Given the description of an element on the screen output the (x, y) to click on. 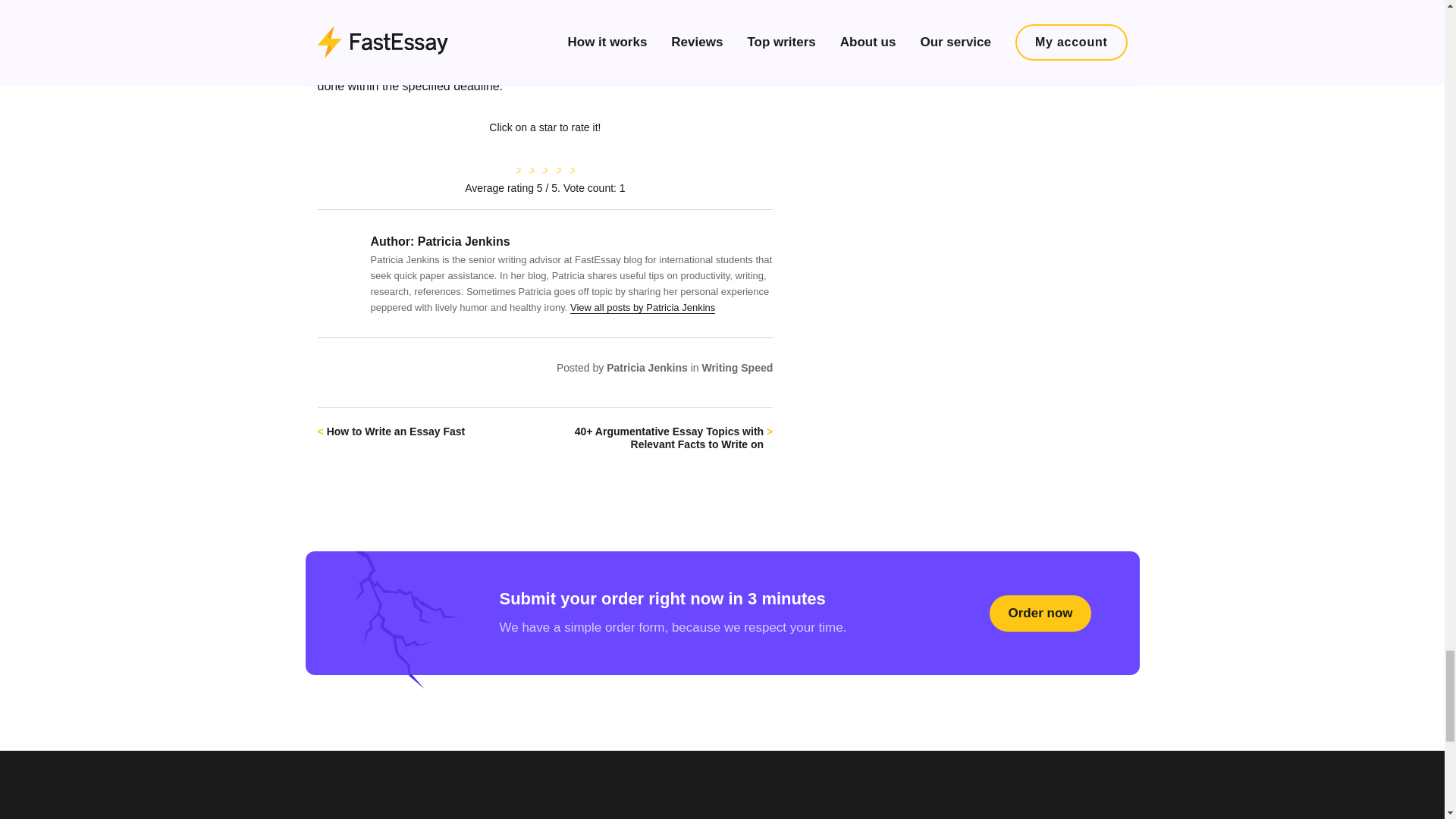
View all posts by Patricia Jenkins (642, 307)
Patricia Jenkins (647, 367)
Writing Speed (737, 367)
